Given the description of an element on the screen output the (x, y) to click on. 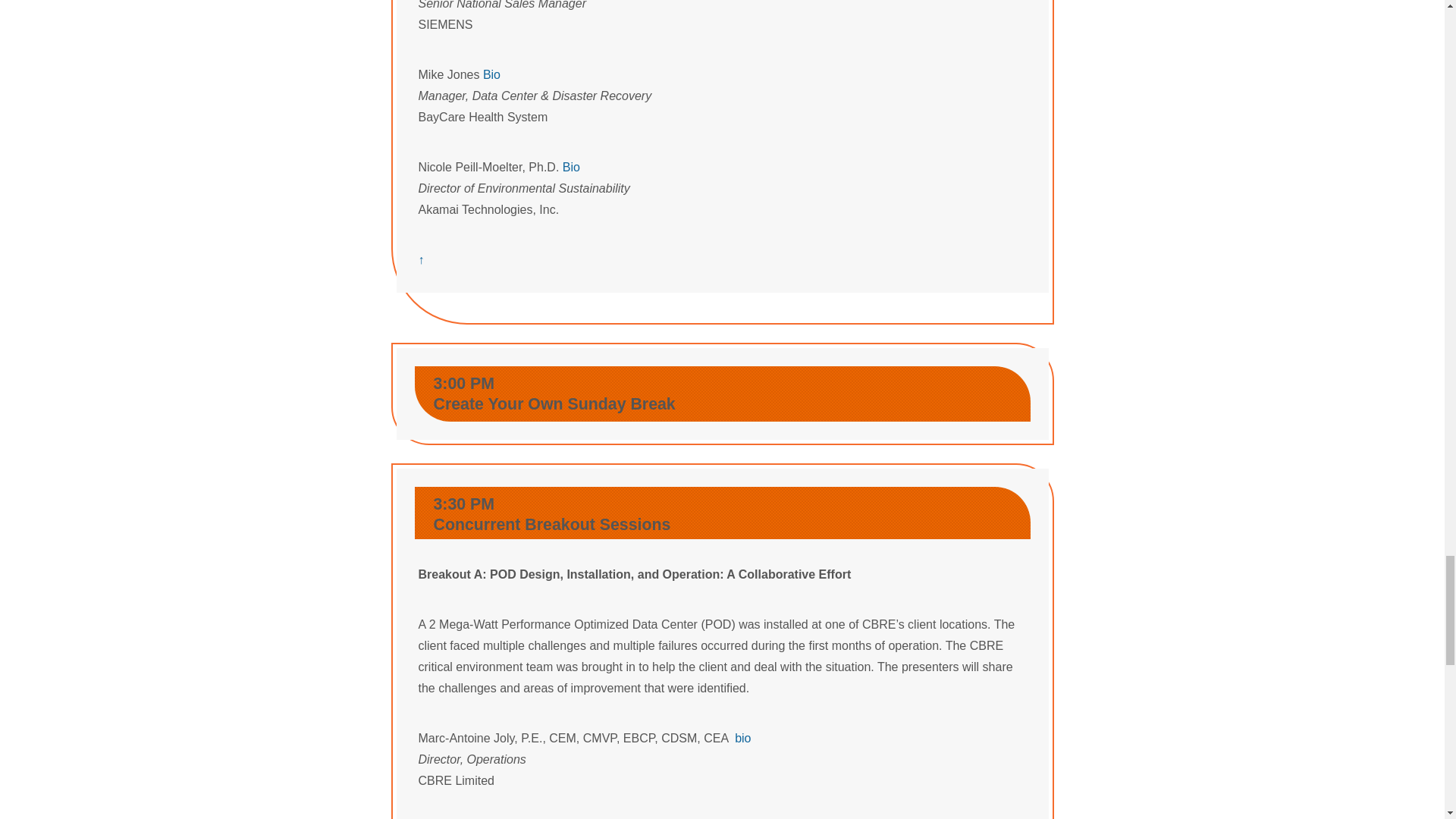
Bio (491, 74)
Bio (570, 166)
bio (743, 738)
